Given the description of an element on the screen output the (x, y) to click on. 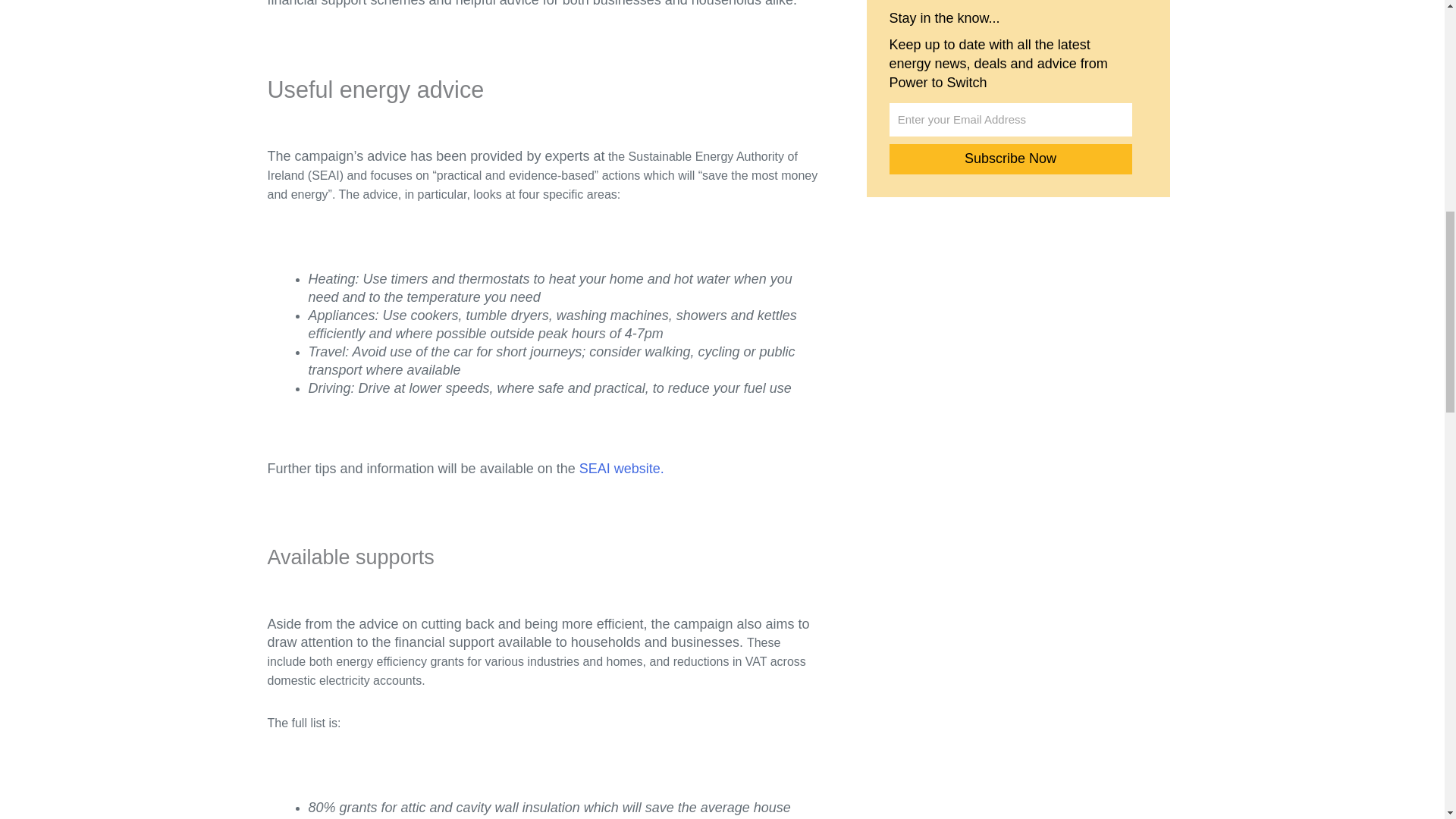
SEAI website. (621, 468)
